Given the description of an element on the screen output the (x, y) to click on. 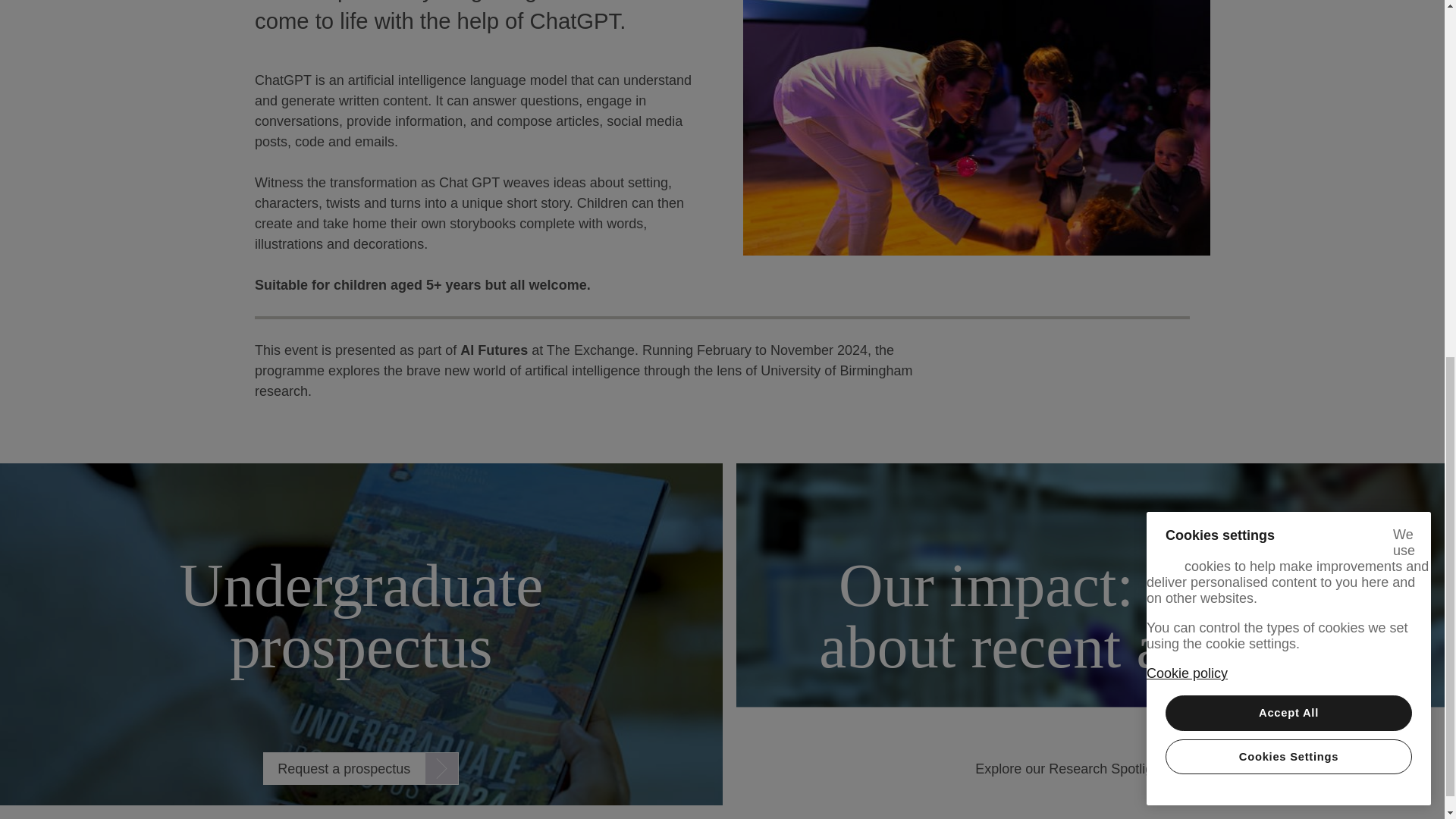
Cookie policy (1187, 26)
Explore our Research Spotlights (1090, 768)
Request a prospectus (360, 768)
Cookies Settings (1289, 109)
Accept All (1289, 66)
